Given the description of an element on the screen output the (x, y) to click on. 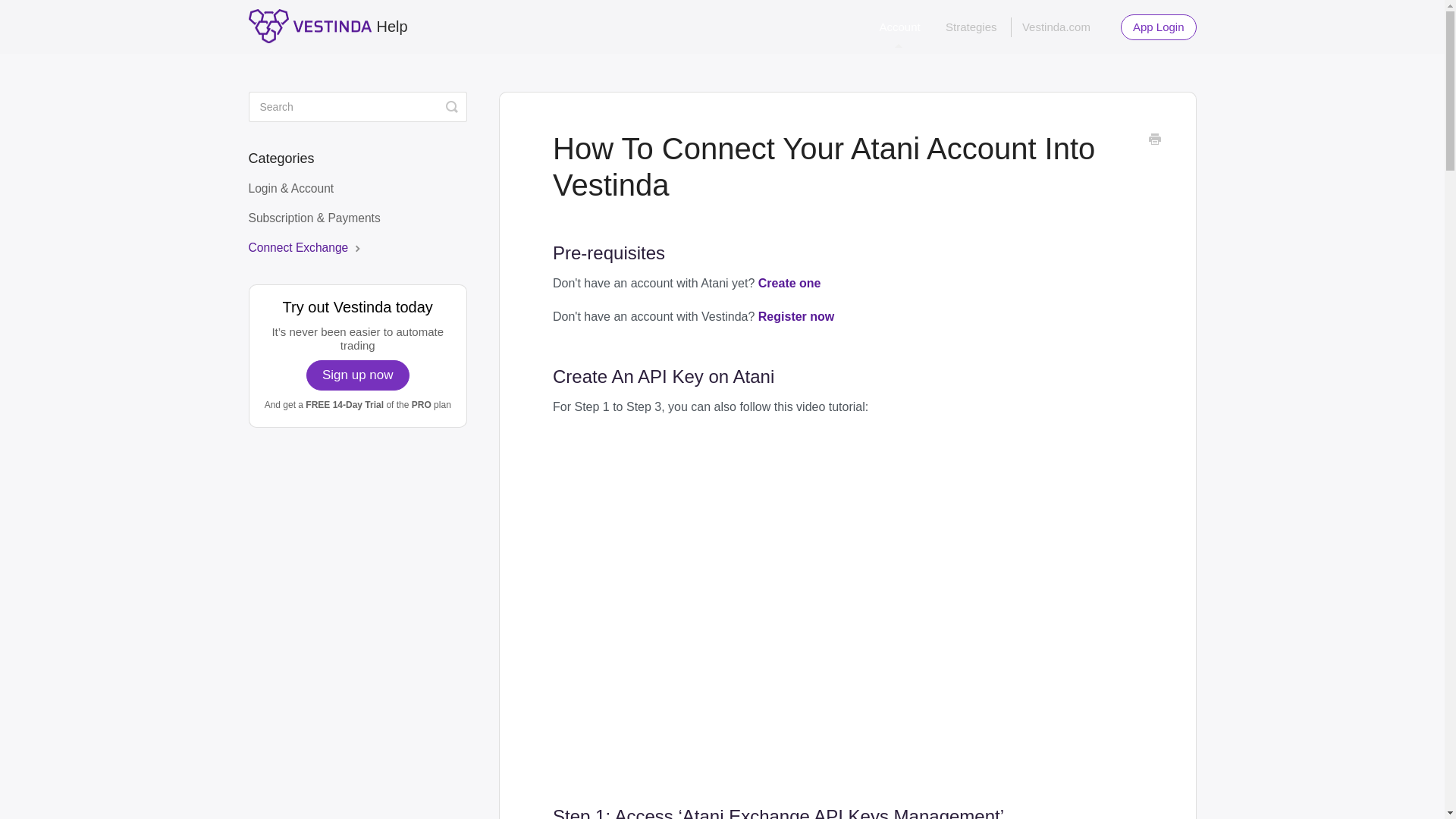
Vestinda.com (1056, 26)
Sign up now (357, 375)
Connect Exchange (312, 247)
Register now (796, 316)
Strategies (971, 26)
search-query (357, 106)
Account (899, 26)
App Login (1158, 27)
Toggle Search (451, 106)
Create one (789, 282)
Print this article (1154, 140)
